Given the description of an element on the screen output the (x, y) to click on. 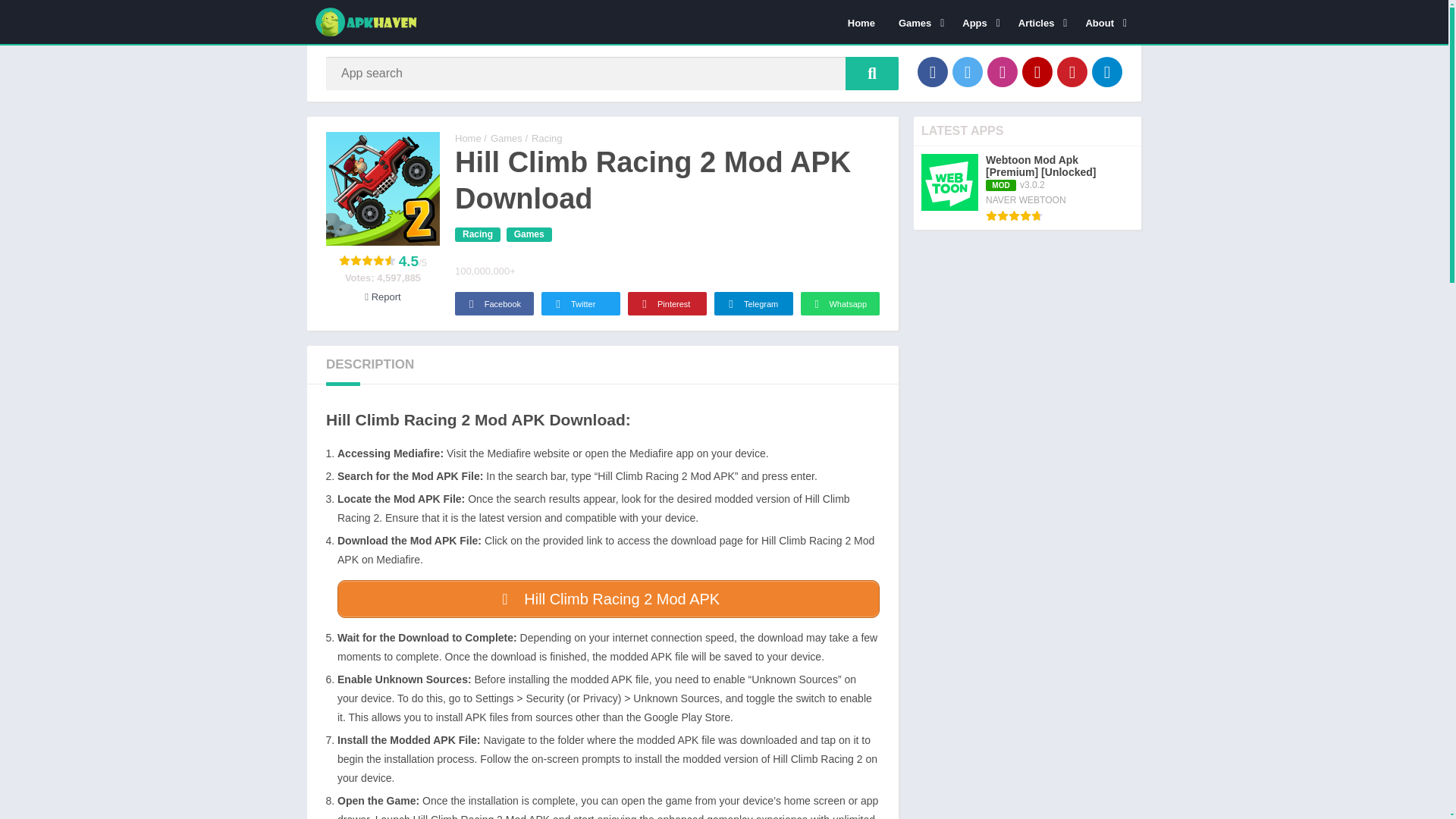
Twitter (967, 71)
Apps (978, 22)
Telegram (1107, 71)
YouTube (1037, 71)
Pinterest (1072, 71)
APK Haven (467, 138)
Facebook (932, 71)
App search (871, 73)
Games (918, 22)
Home (860, 22)
